Given the description of an element on the screen output the (x, y) to click on. 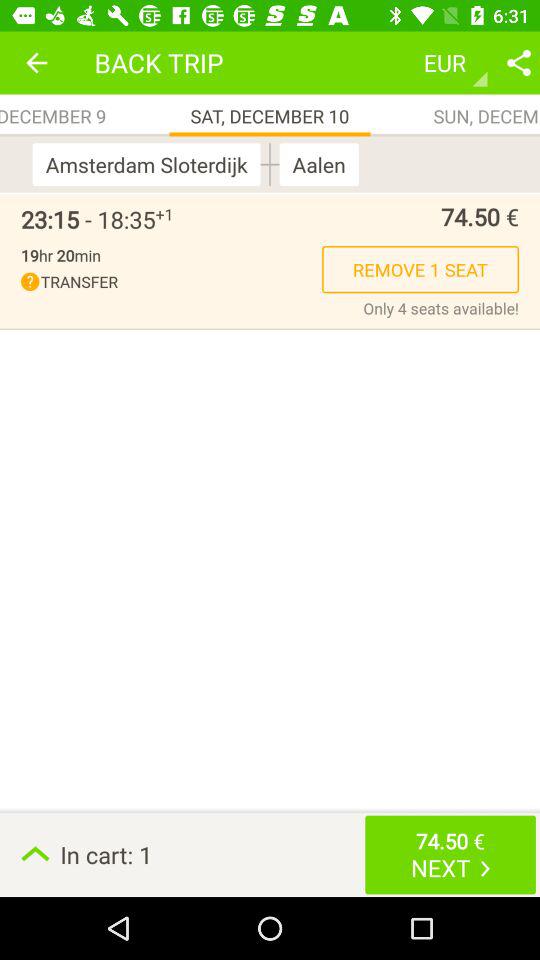
select the icon below 23 15 18 icon (60, 255)
